Given the description of an element on the screen output the (x, y) to click on. 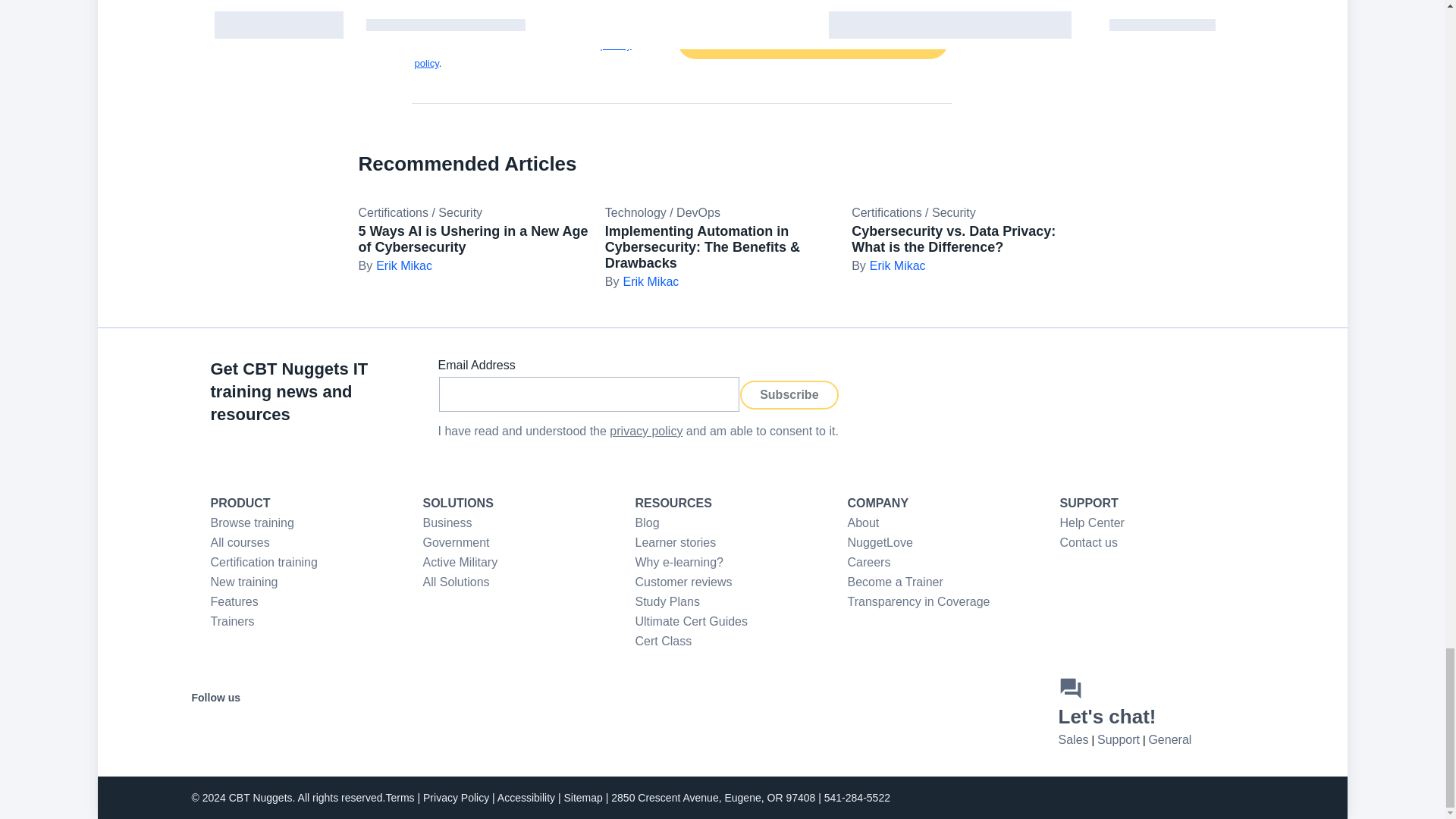
privacy policy (646, 431)
Erik Mikac (887, 265)
Submit (812, 40)
Erik Mikac (641, 281)
Cybersecurity vs. Data Privacy: What is the Difference? (953, 238)
Erik Mikac (394, 265)
Subscribe (788, 394)
Browse training (252, 522)
5 Ways AI is Ushering in a New Age of Cybersecurity (473, 238)
privacy policy (521, 53)
